Given the description of an element on the screen output the (x, y) to click on. 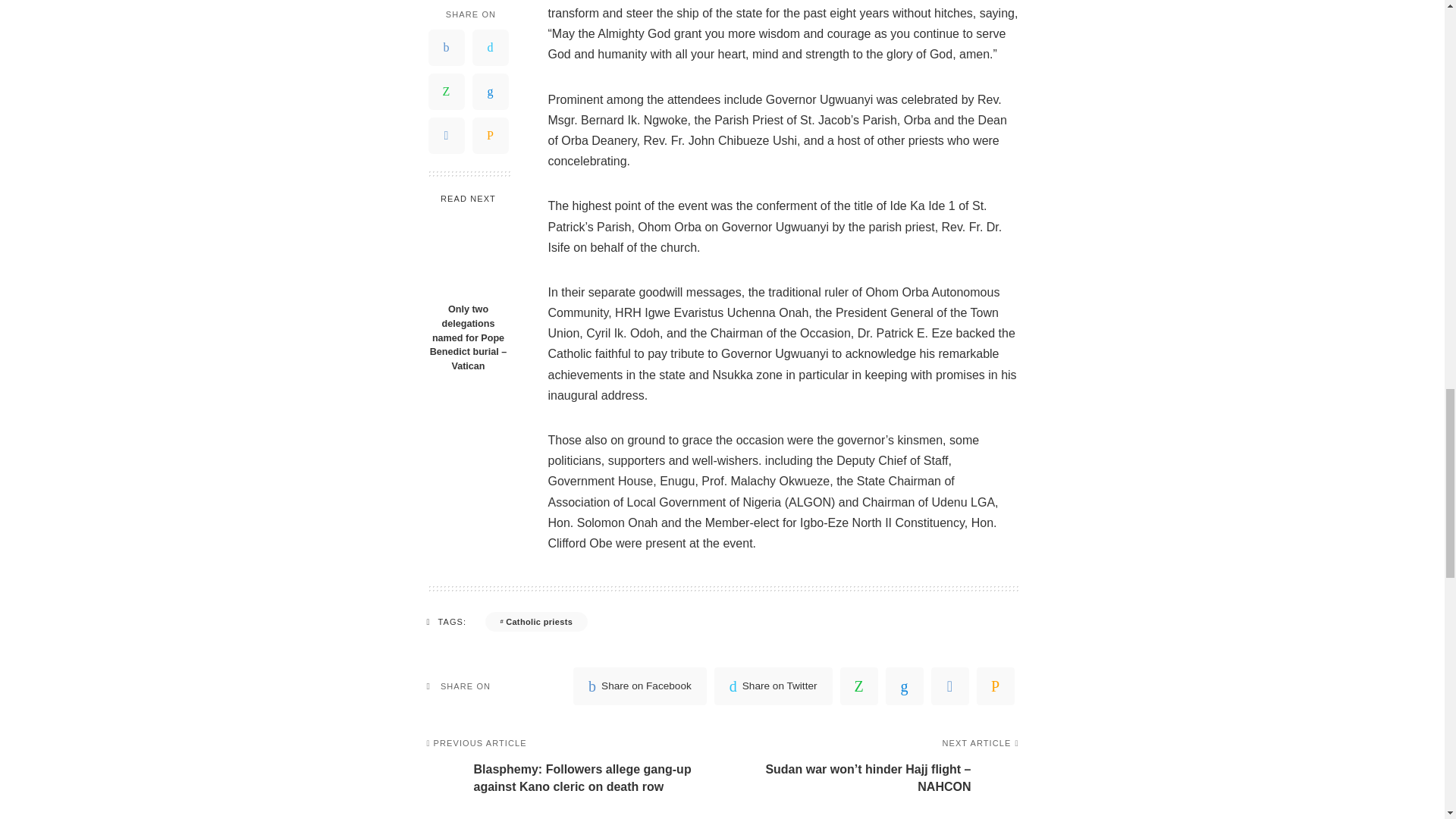
linkedIn (904, 686)
Catholic priests (536, 621)
Catholic priests (536, 621)
Facebook (639, 686)
Twitter (773, 686)
Share on Twitter (773, 686)
Telegram (950, 686)
WhatsApp (858, 686)
Share on Facebook (639, 686)
